Given the description of an element on the screen output the (x, y) to click on. 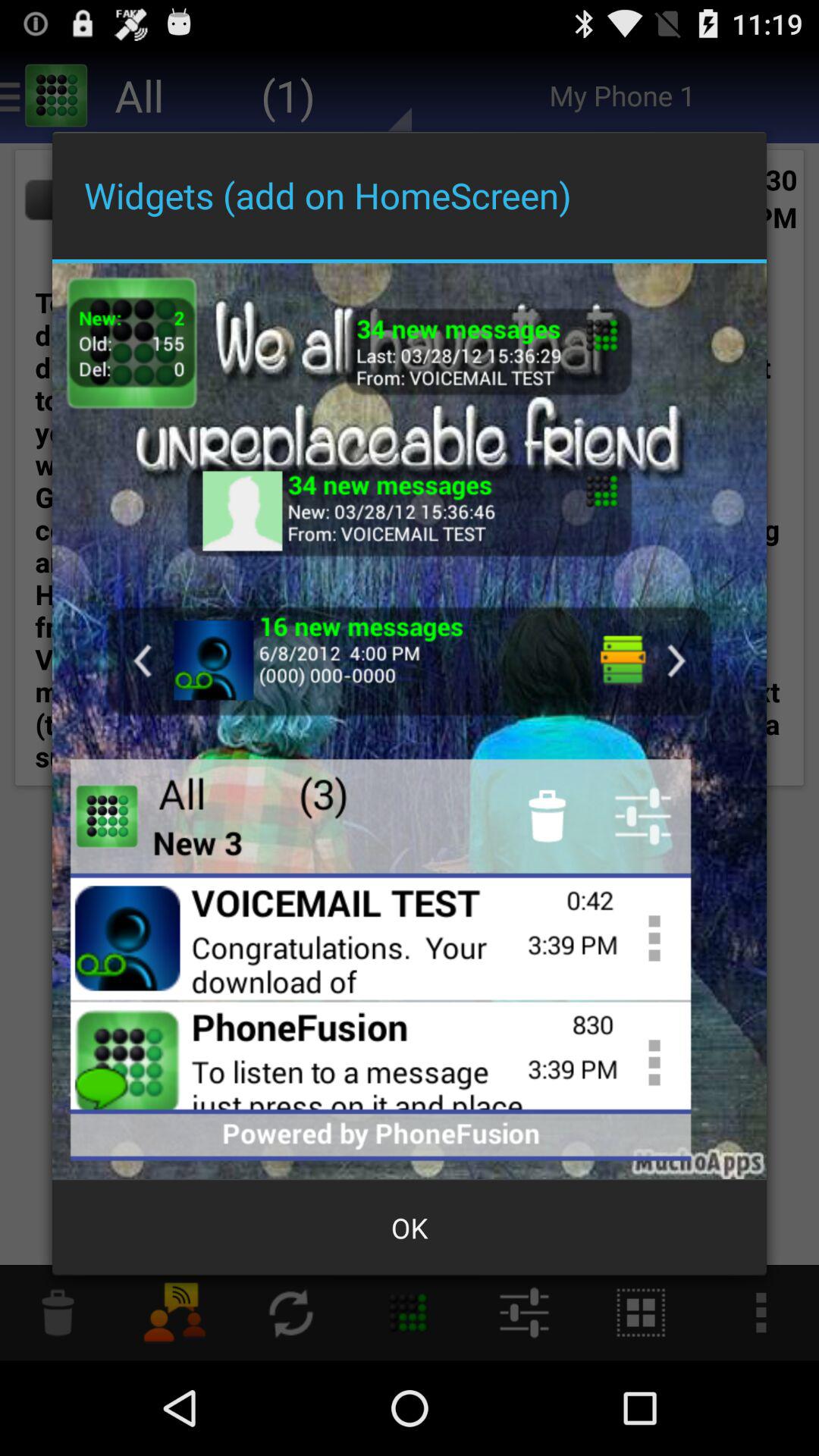
jump until ok icon (409, 1227)
